Given the description of an element on the screen output the (x, y) to click on. 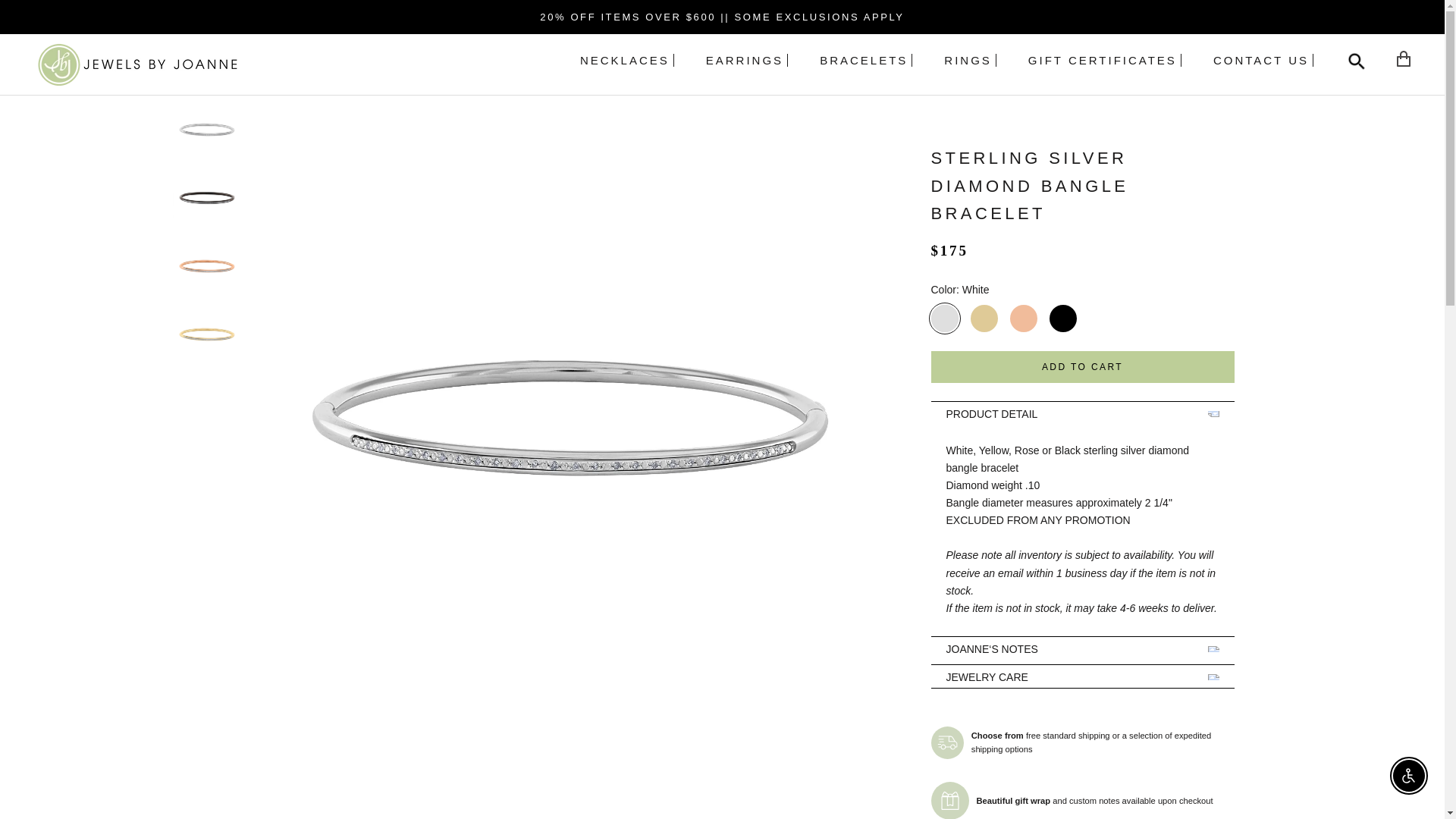
Shipping (947, 742)
Gift Wrap (1262, 60)
Next (950, 800)
ADD TO CART (1103, 60)
Previous (626, 60)
